Given the description of an element on the screen output the (x, y) to click on. 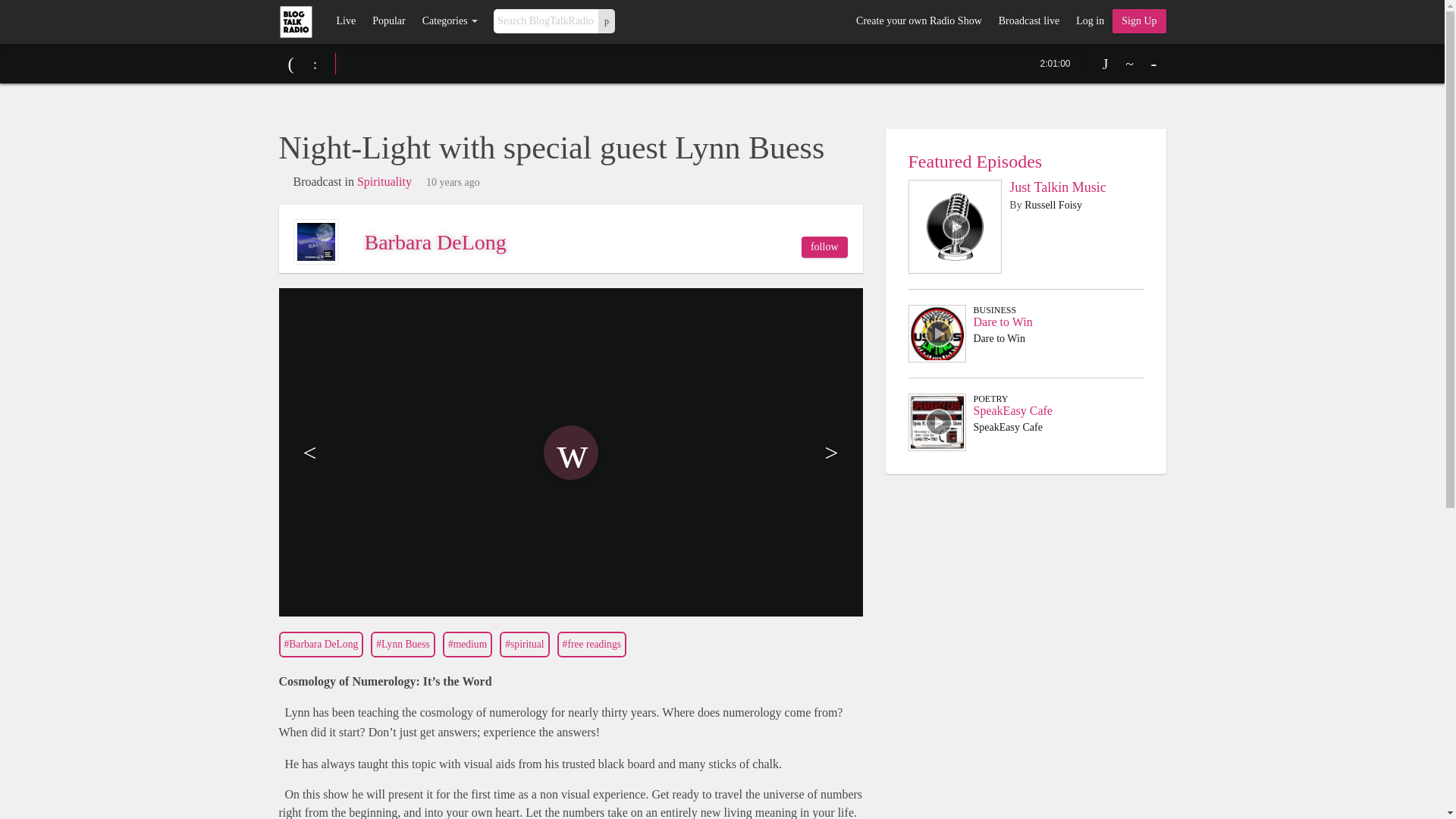
Follow Barbara DeLong (824, 246)
Log in (1089, 20)
Sign Up (1139, 21)
Embed this episode (1129, 63)
Thu, July 31, 2014 08:00 am (453, 182)
Categories (449, 20)
Create My Talk Show (1139, 21)
Create your own Radio Show (918, 20)
Broadcast live (1028, 20)
Popular (388, 20)
